Given the description of an element on the screen output the (x, y) to click on. 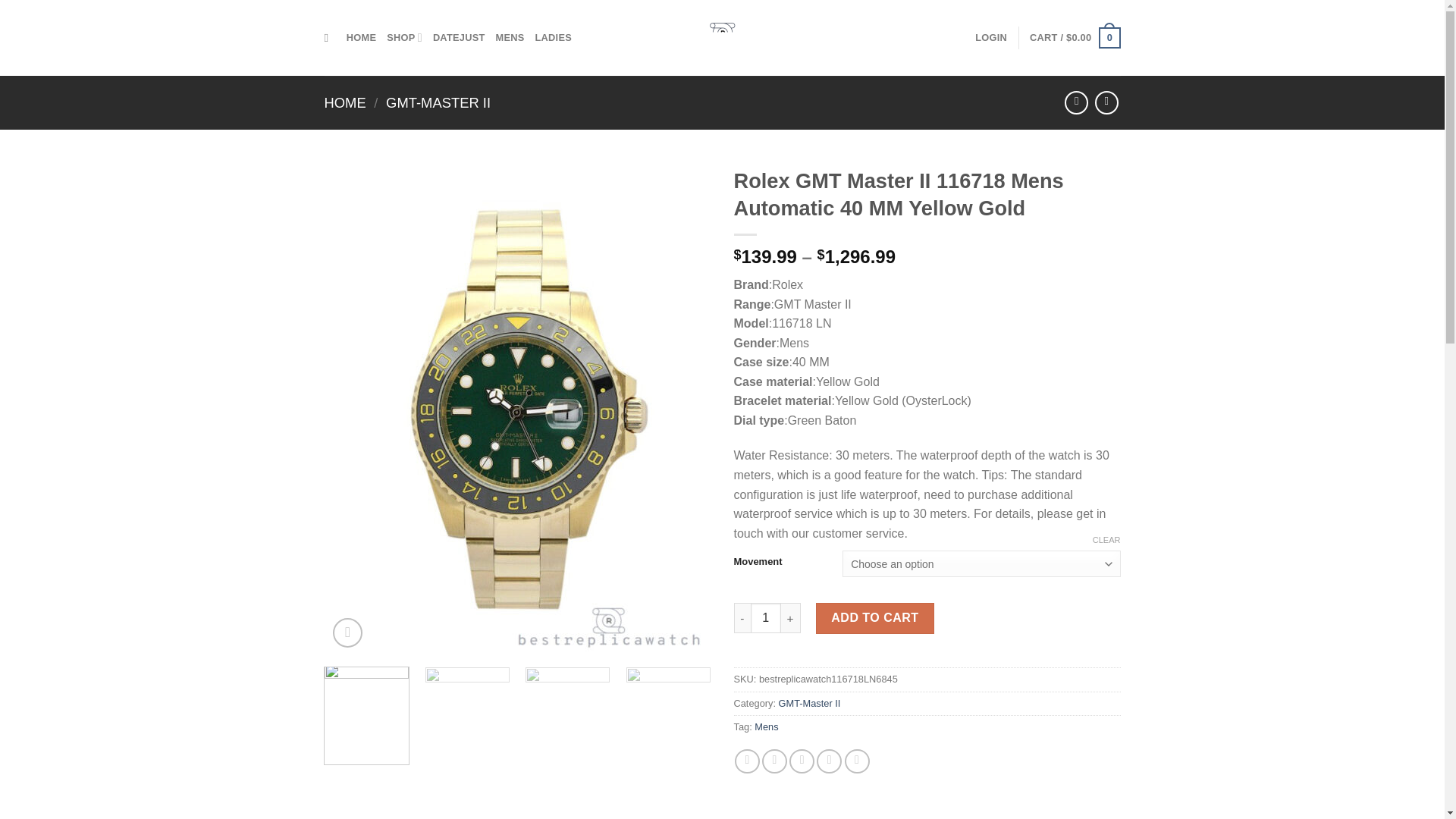
GMT-MASTER II (437, 102)
SHOP (404, 37)
DATEJUST (458, 37)
HOME (345, 102)
Cart (1074, 37)
MENS (510, 37)
LOGIN (991, 37)
Qty (765, 617)
1 (765, 617)
LADIES (553, 37)
